Given the description of an element on the screen output the (x, y) to click on. 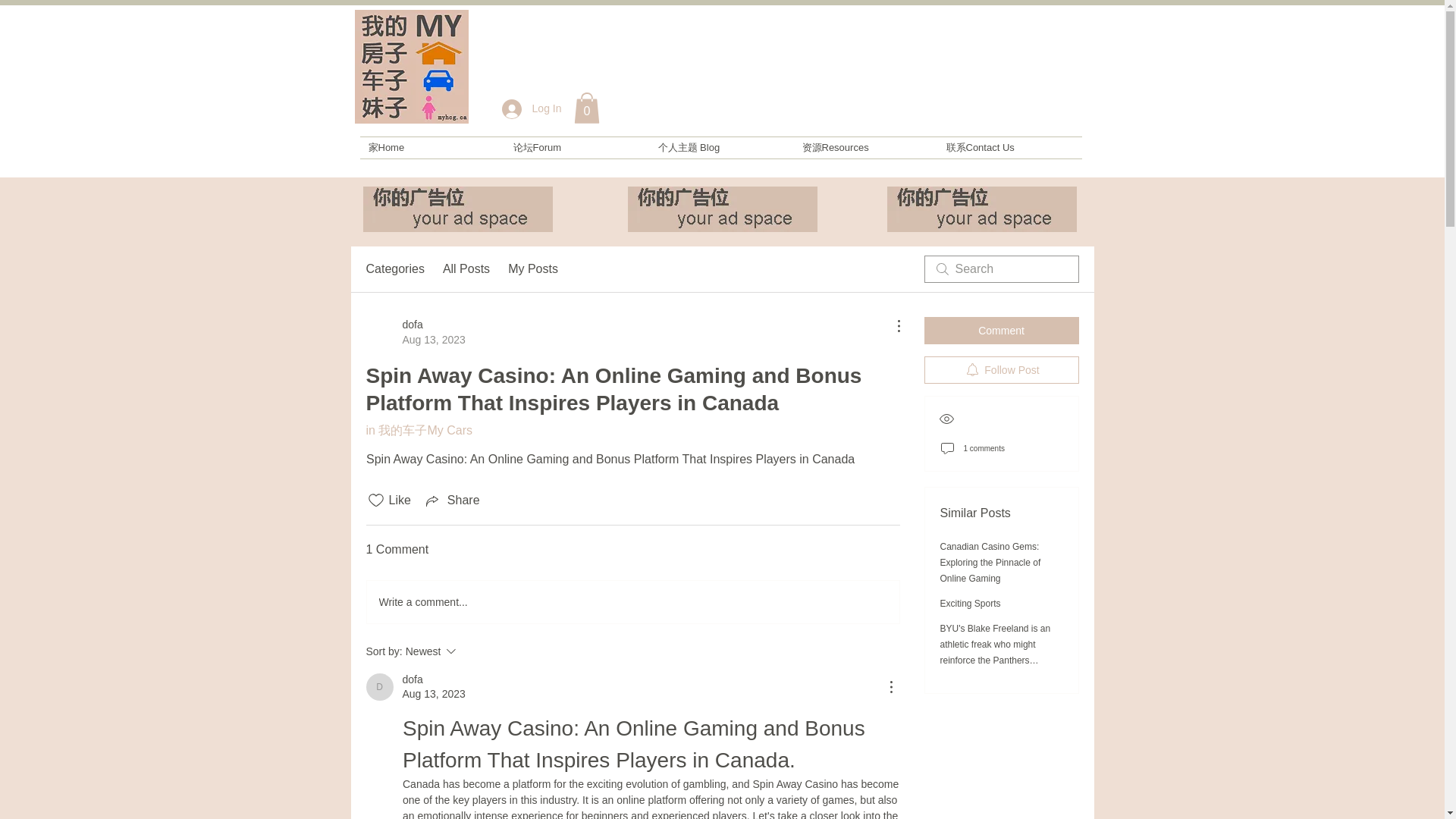
My Posts (532, 269)
Log In (532, 108)
dofa (411, 679)
dofa (379, 687)
D (471, 651)
Comment (379, 687)
0 (1000, 329)
All Posts (585, 107)
Share (465, 269)
Categories (451, 500)
0 (394, 269)
Follow Post (585, 107)
